Given the description of an element on the screen output the (x, y) to click on. 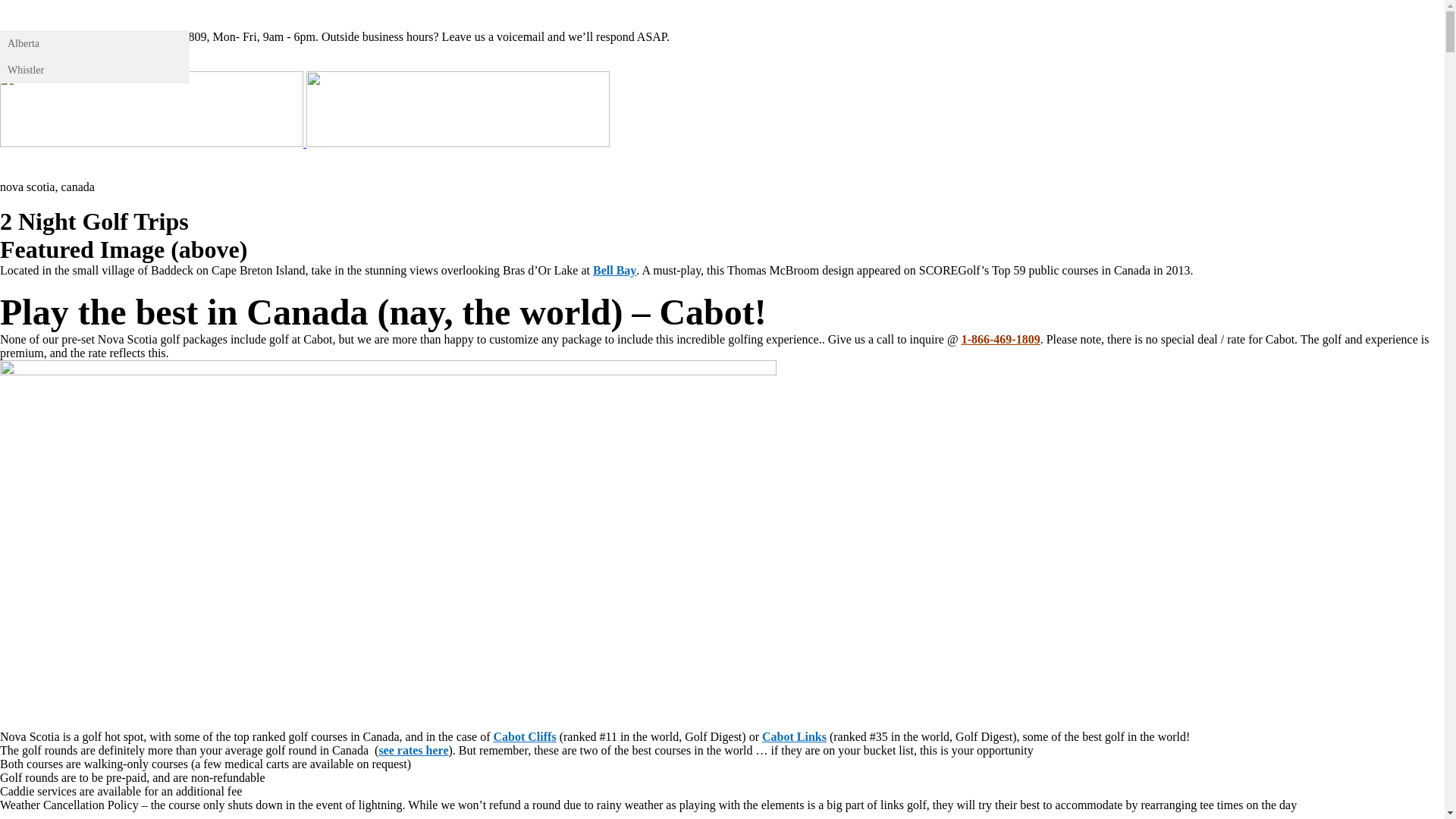
Contact Us Element type: text (370, 15)
Western CA Element type: text (43, 165)
Western CA Element type: text (43, 15)
Alberta Element type: text (94, 43)
1-866-469-1809 Element type: text (1000, 338)
Atlantic CA Element type: text (295, 165)
see rates here Element type: text (413, 749)
Quebec CA Element type: text (211, 15)
Ontario CA Element type: text (128, 165)
Whistler Element type: text (94, 69)
Cabot Links Element type: text (794, 736)
Quebec CA Element type: text (211, 165)
Contact Us Element type: text (370, 165)
1-866-469-1809 Element type: text (39, 36)
Atlantic CA Element type: text (295, 15)
Cabot Cliffs Element type: text (524, 736)
Bell Bay Element type: text (614, 269)
Ontario CA Element type: text (128, 15)
